Given the description of an element on the screen output the (x, y) to click on. 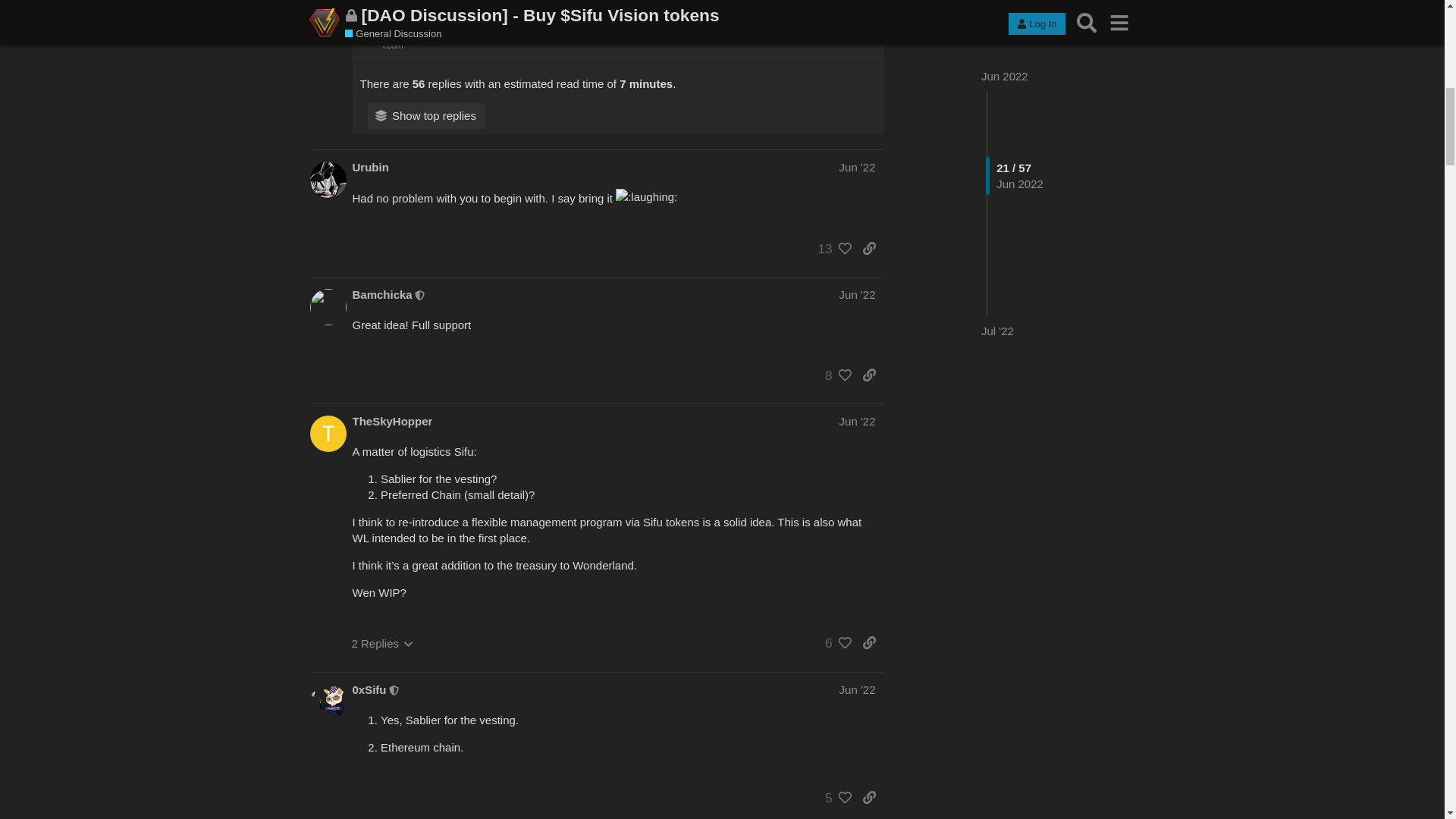
Snapshot (344, 124)
:zap: (327, 108)
Discord (372, 796)
Join the Volta Club Discord Server! (502, 496)
Join the Volta Club Discord Server! (502, 817)
:sparkles: (836, 654)
Discord (372, 469)
:sparkles: (966, 654)
